Given the description of an element on the screen output the (x, y) to click on. 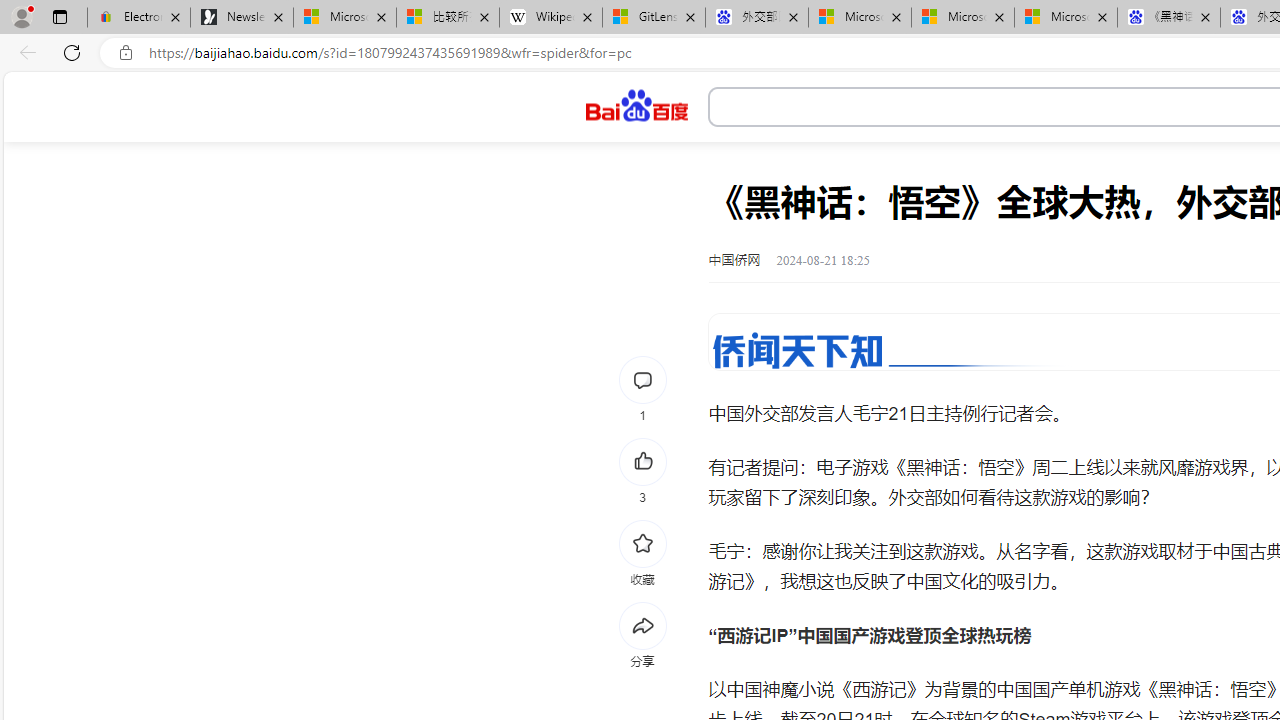
Newsletter Sign Up (241, 17)
